Given the description of an element on the screen output the (x, y) to click on. 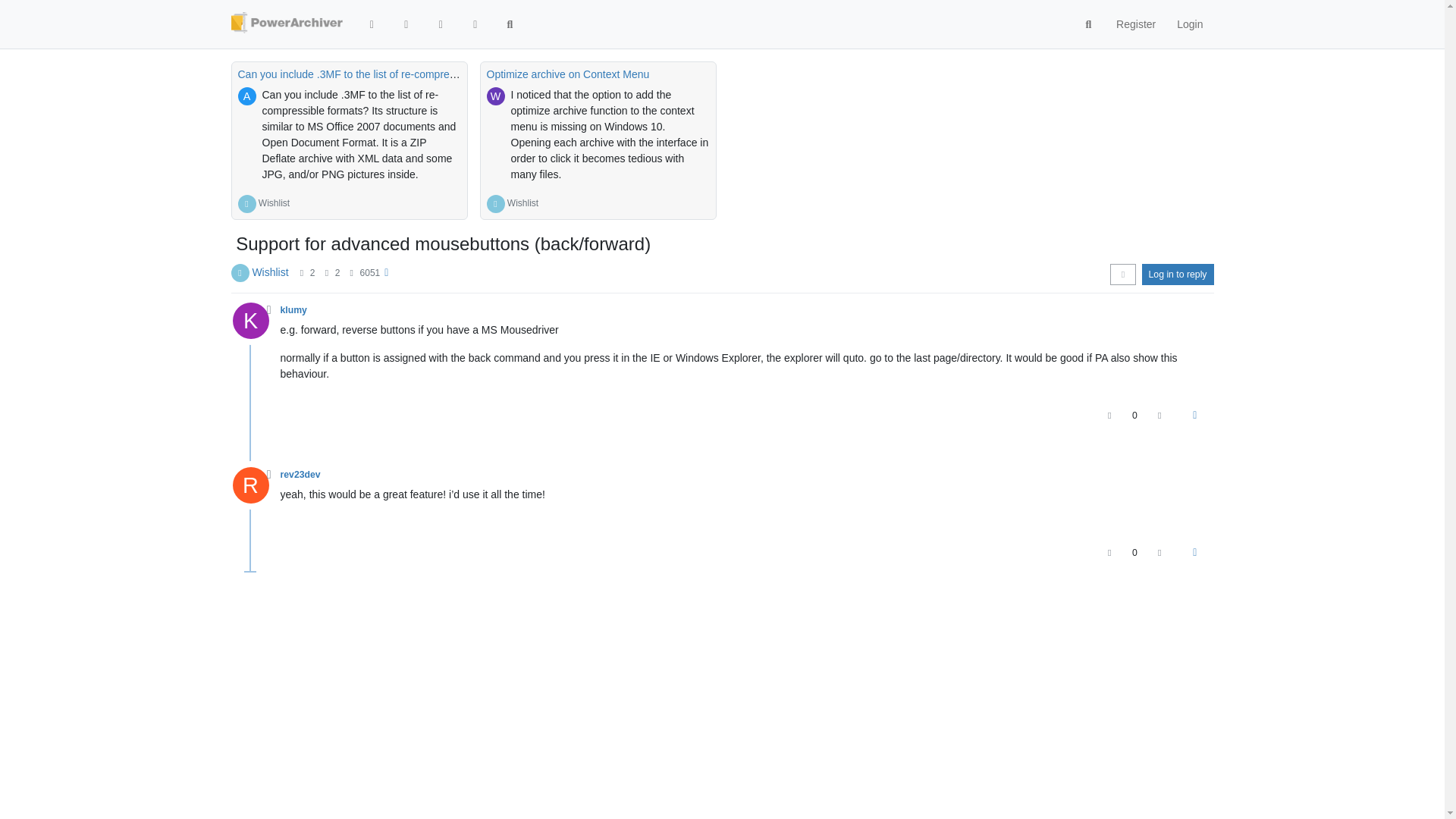
Wishlist (274, 203)
Wishlist (269, 271)
Posters (301, 272)
Wishlist (522, 203)
Wishlist (274, 203)
Tags (440, 24)
Popular (475, 24)
K (255, 324)
Werve (495, 95)
Search (510, 24)
